Given the description of an element on the screen output the (x, y) to click on. 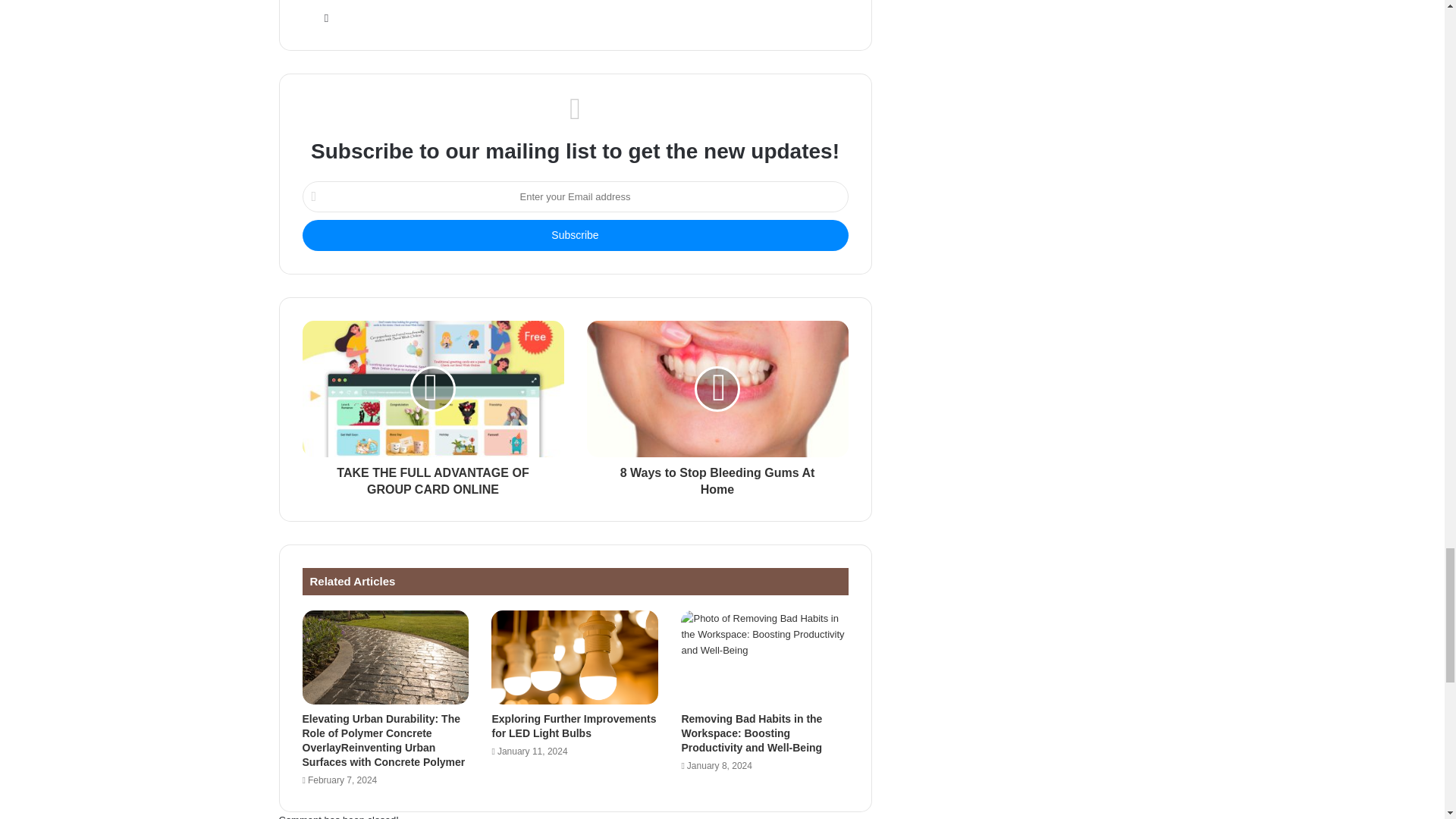
Subscribe (574, 235)
